Given the description of an element on the screen output the (x, y) to click on. 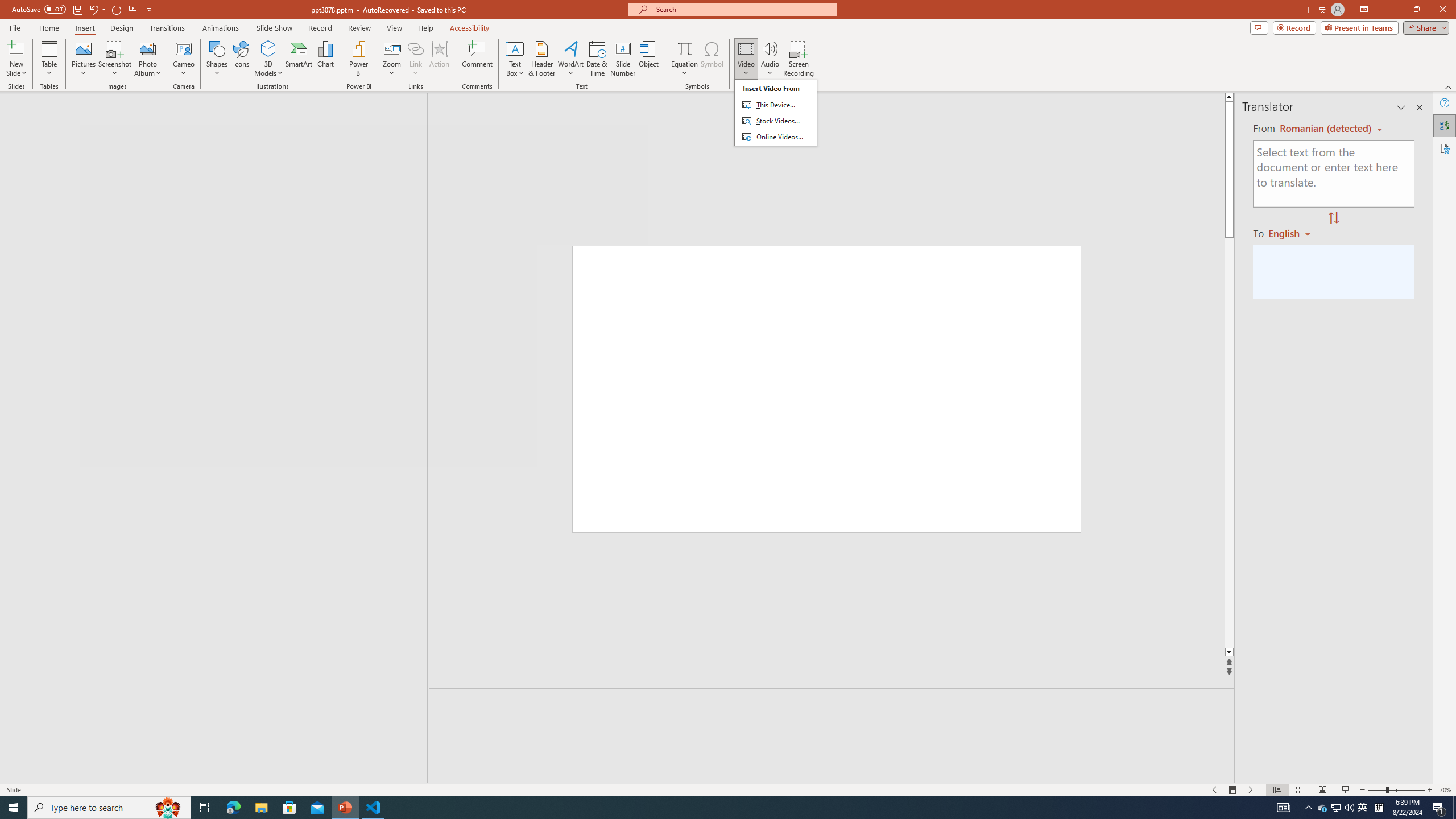
WordArt (570, 58)
Equation (683, 58)
Audio (769, 58)
SmartArt... (298, 58)
Menu On (1232, 790)
3D Models (268, 48)
Slide Show Previous On (1214, 790)
Screen Recording... (798, 58)
